Given the description of an element on the screen output the (x, y) to click on. 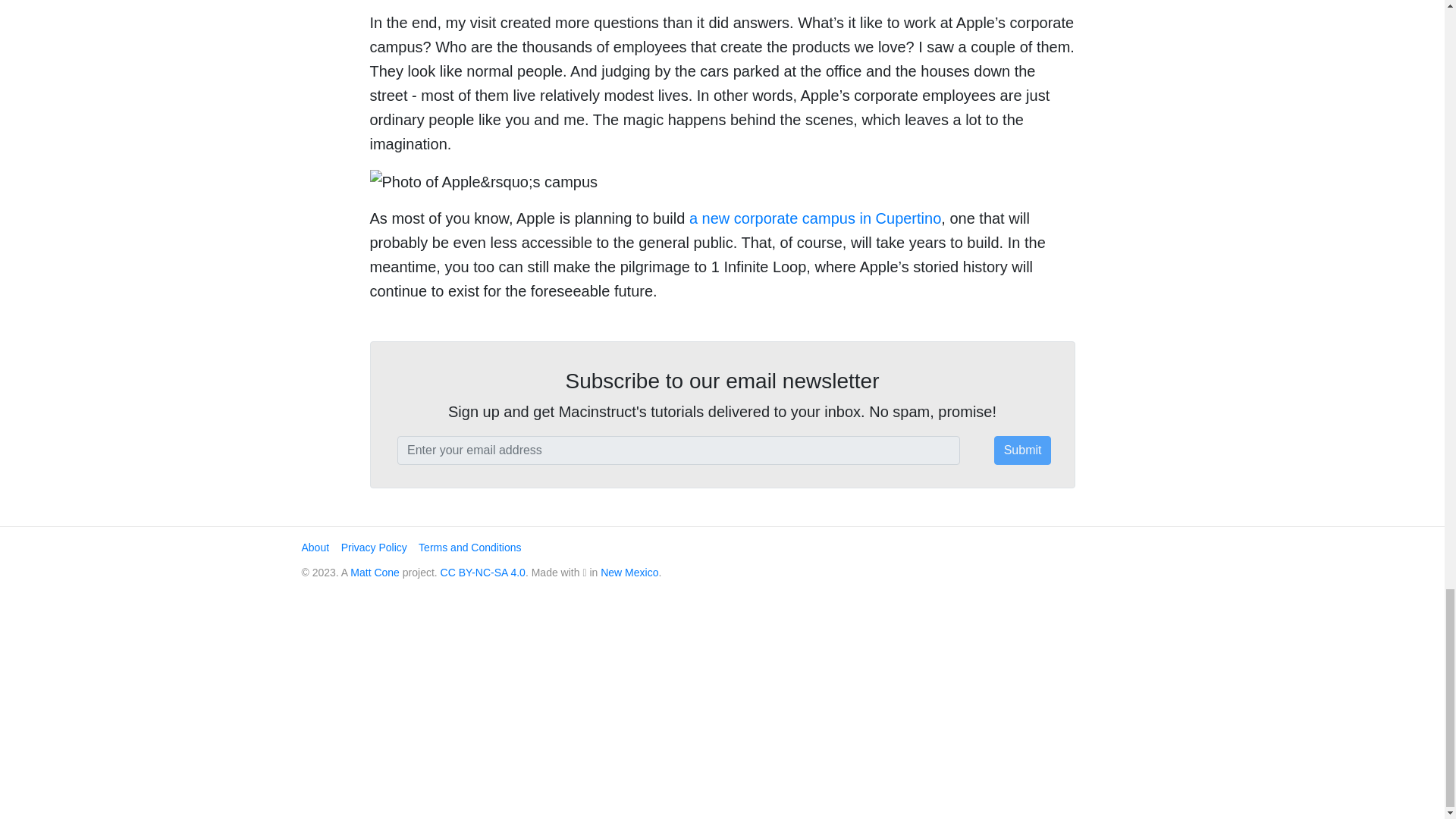
CC BY-NC-SA 4.0 (483, 572)
Matt Cone (374, 572)
Terms and Conditions (470, 547)
Privacy Policy (373, 547)
About (315, 547)
New Mexico (628, 572)
Submit (1022, 450)
a new corporate campus in Cupertino (814, 217)
